Given the description of an element on the screen output the (x, y) to click on. 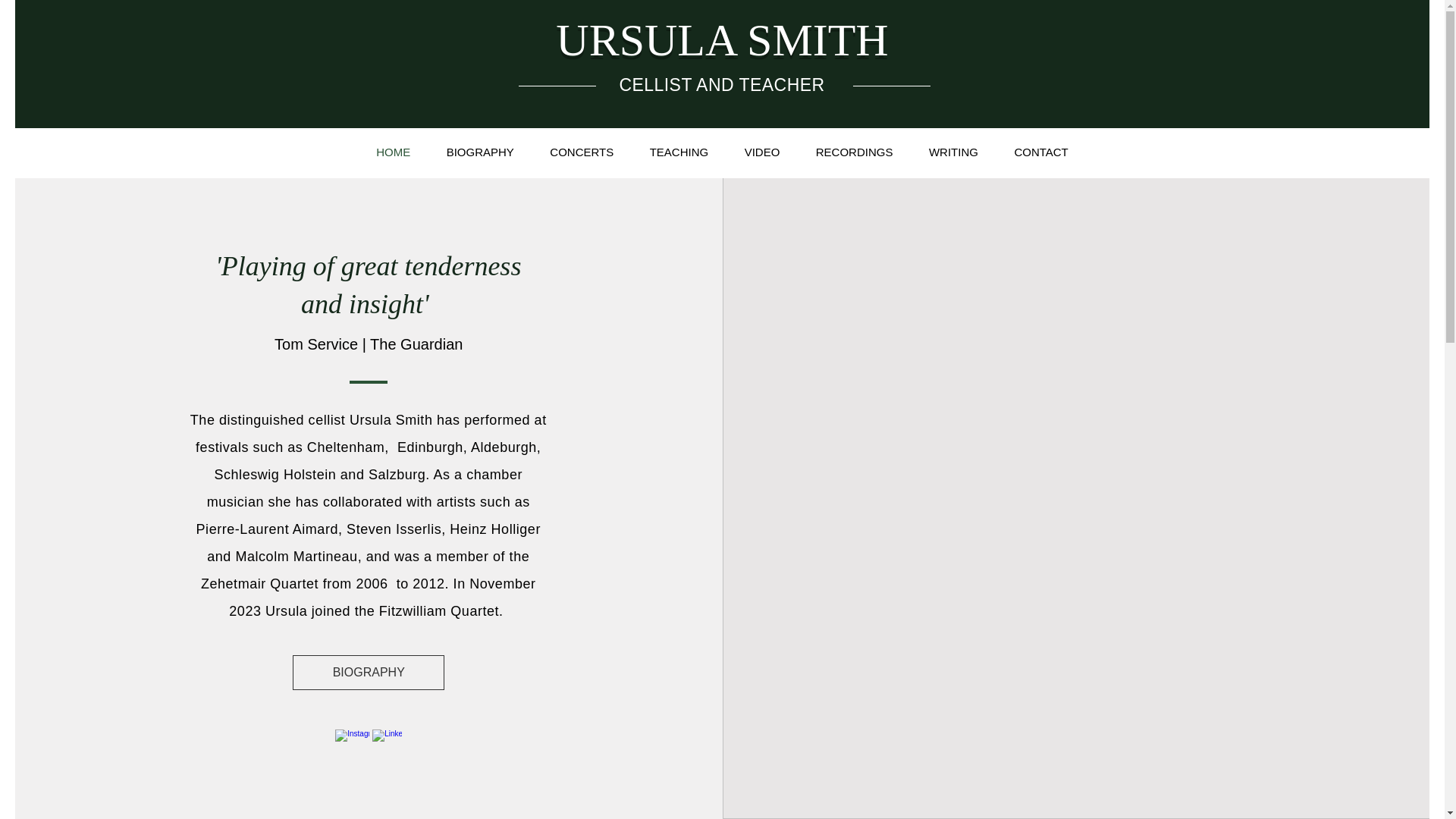
URSULA SMITH (722, 40)
TEACHING (678, 151)
WRITING (953, 151)
VIDEO (761, 151)
RECORDINGS (854, 151)
HOME (393, 151)
CELLIST AND TEACHER (721, 85)
CONCERTS (581, 151)
BIOGRAPHY (480, 151)
CONTACT (1040, 151)
BIOGRAPHY (368, 672)
